Given the description of an element on the screen output the (x, y) to click on. 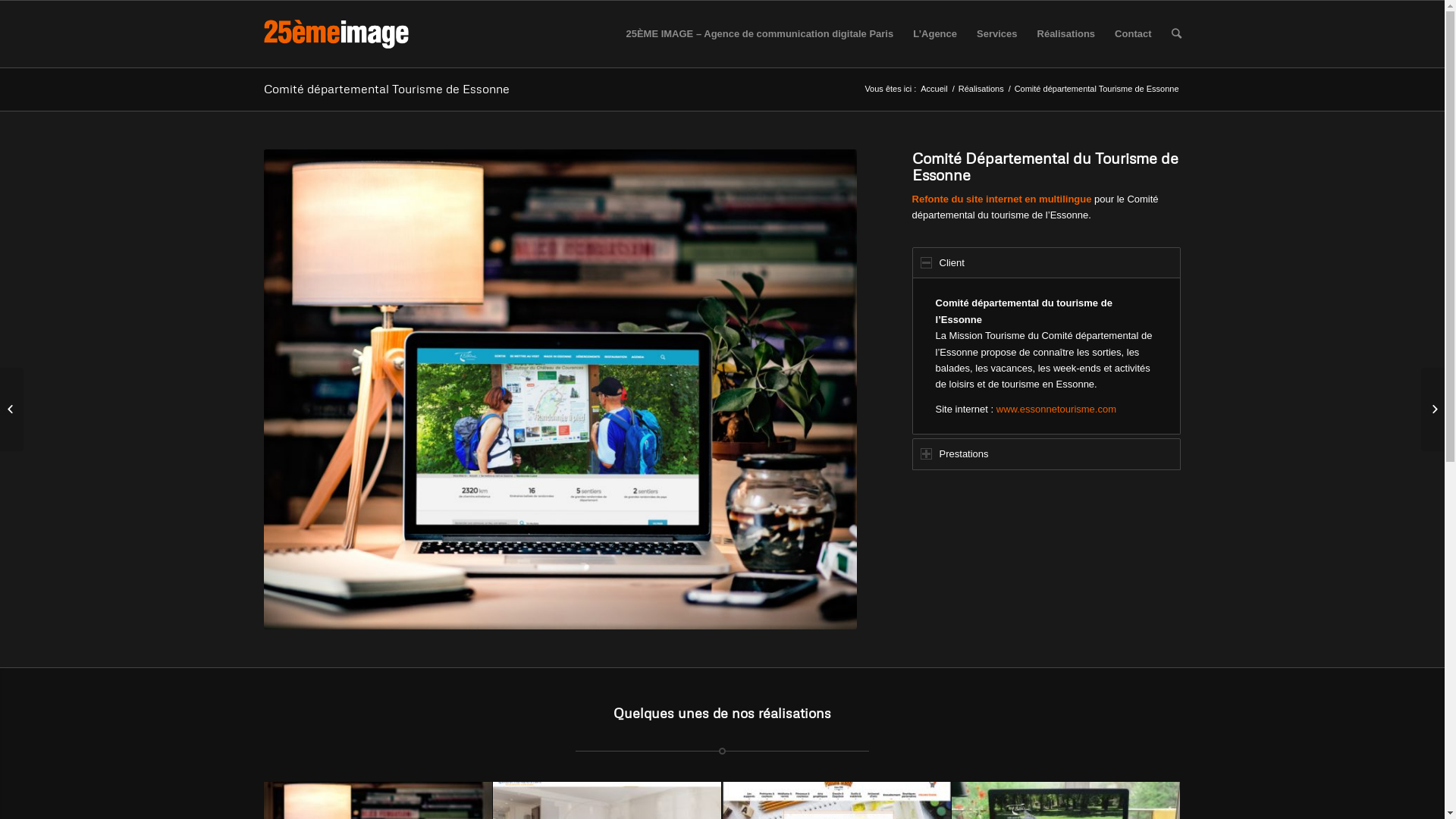
www.essonnetourisme.com Element type: text (1056, 408)
Contact Element type: text (1132, 33)
Services Element type: text (996, 33)
CDT-2-25emeimage Element type: hover (559, 389)
Accueil Element type: text (933, 88)
